Given the description of an element on the screen output the (x, y) to click on. 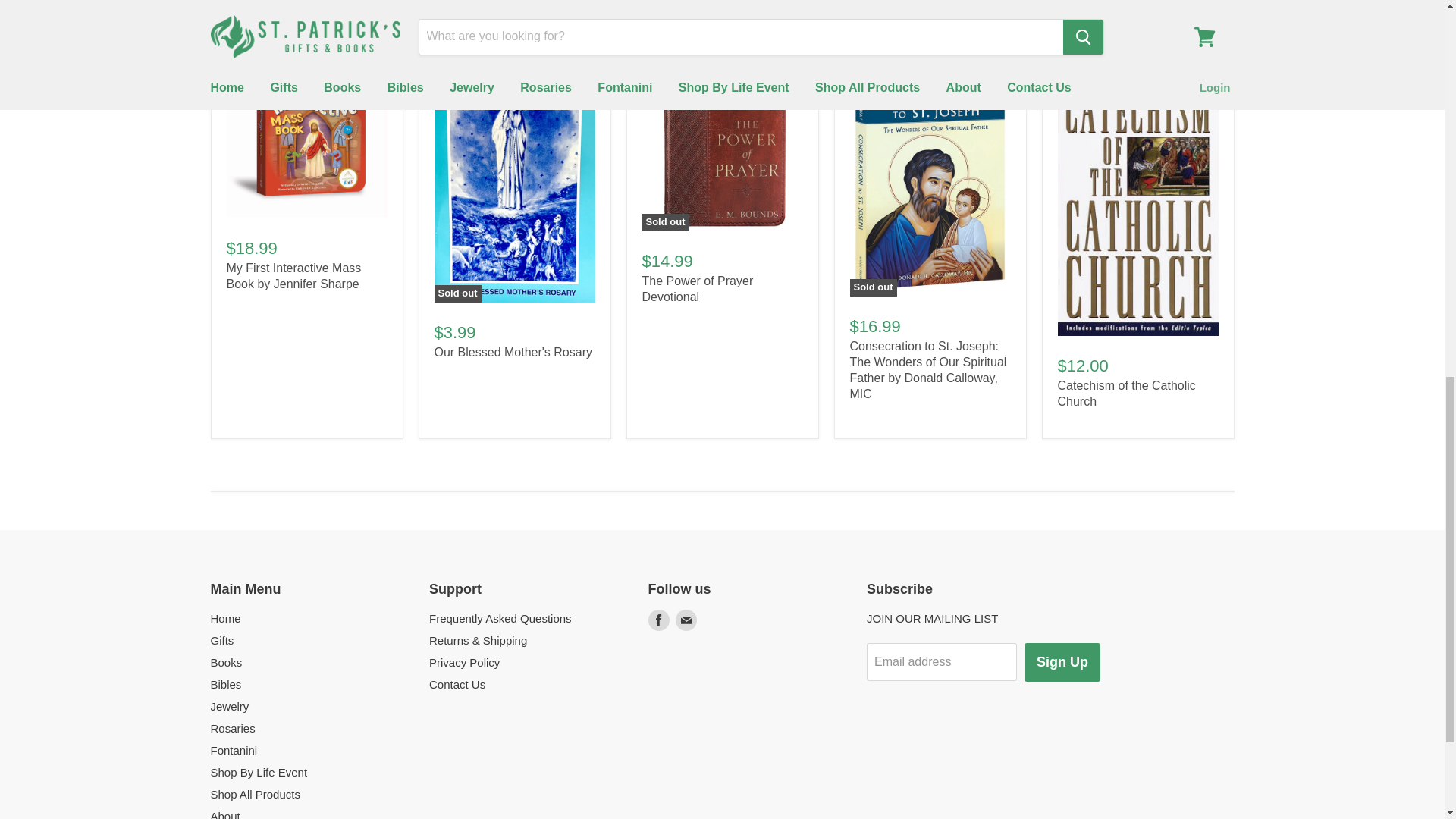
Facebook (658, 619)
E-mail (684, 619)
